Given the description of an element on the screen output the (x, y) to click on. 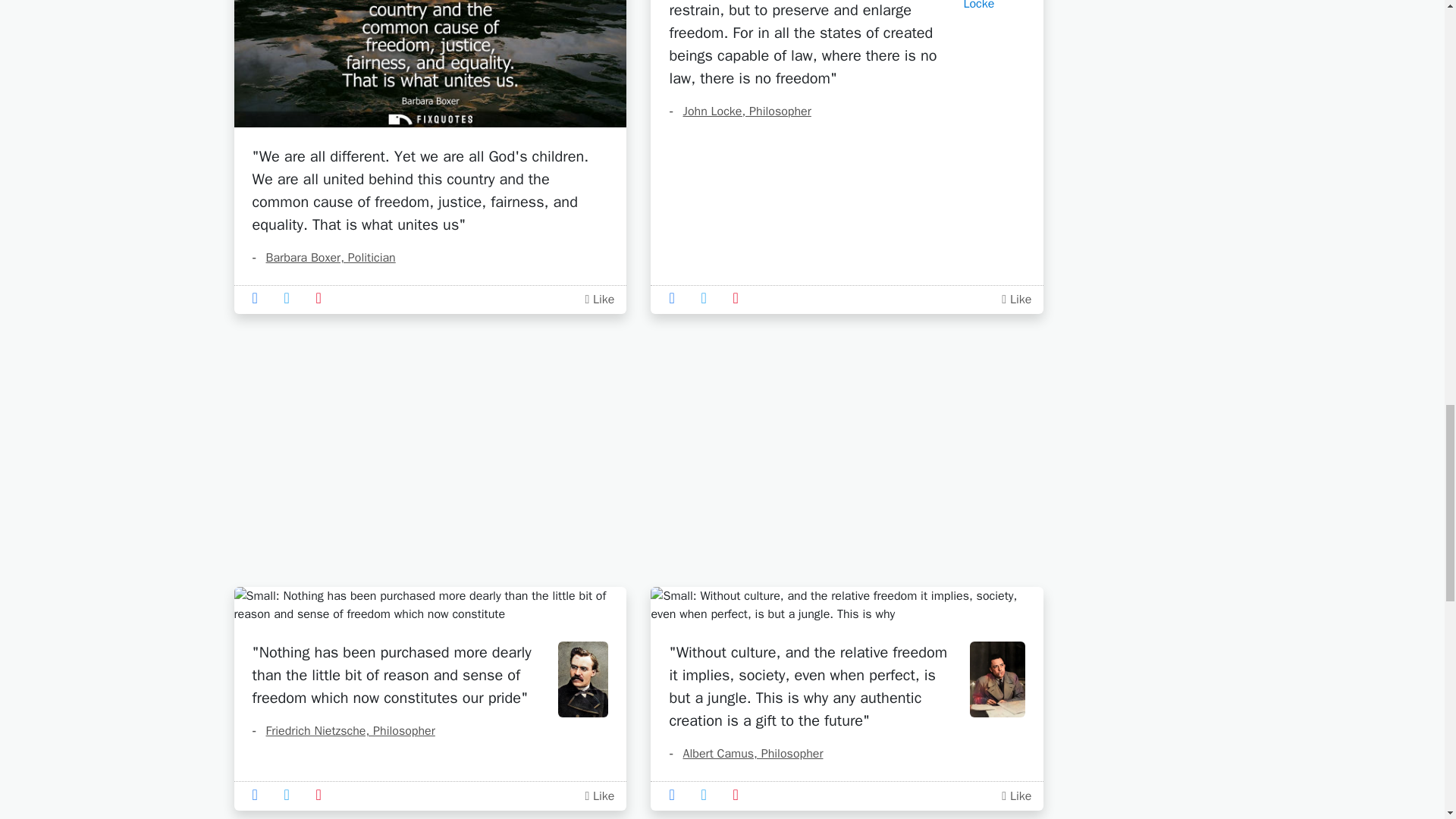
Share on Facebook (676, 297)
Share on Pinterest (740, 297)
Friedrich Nietzsche, Philosopher (342, 730)
Share on Pinterest (322, 794)
Albert Camus, Philosopher (745, 753)
Share on Twitter (290, 794)
Share on Facebook (676, 794)
Share on Twitter (708, 297)
Share on Facebook (258, 297)
Share on Facebook (258, 794)
